Given the description of an element on the screen output the (x, y) to click on. 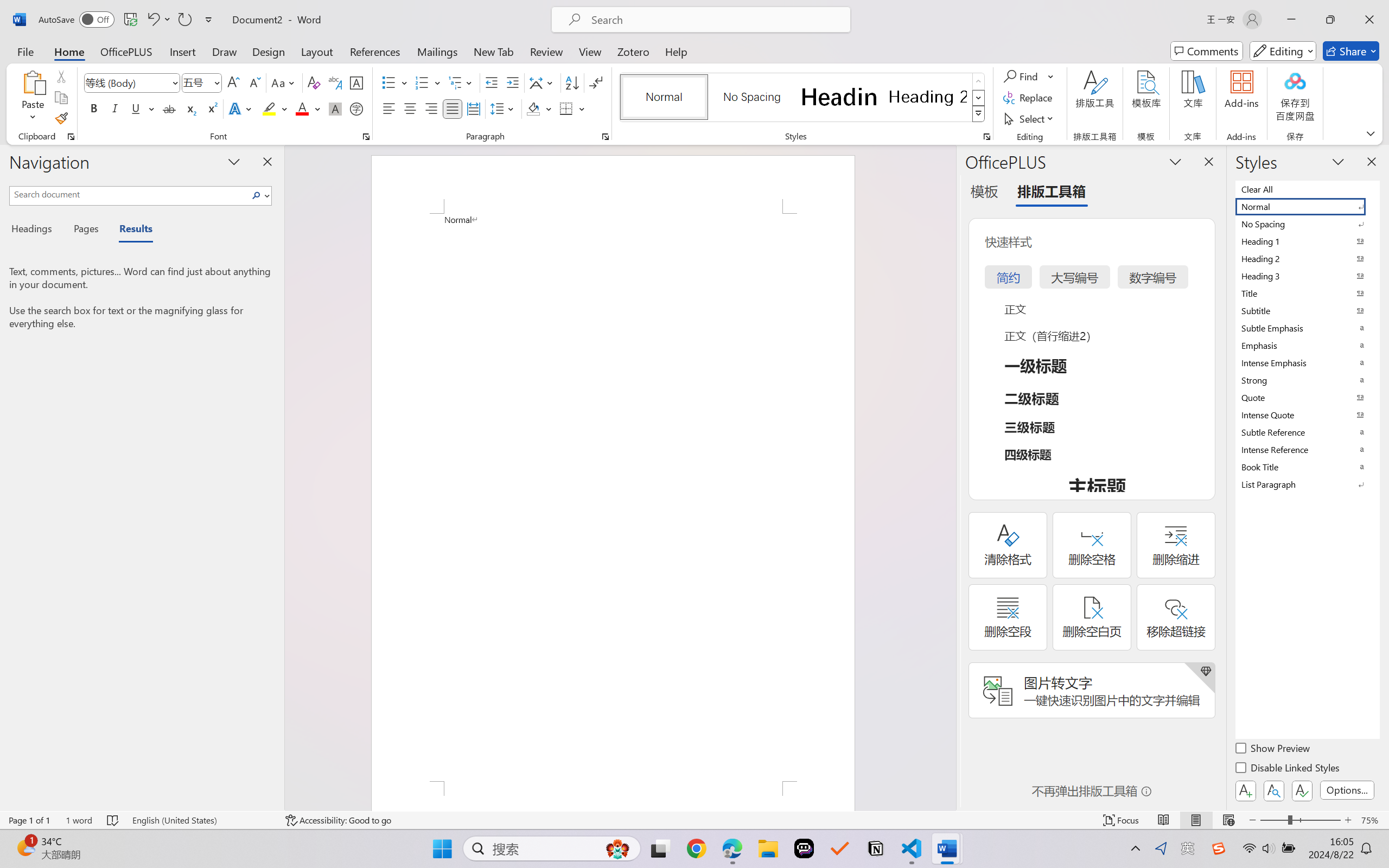
Minimize (1291, 19)
Distributed (473, 108)
Customize Quick Access Toolbar (208, 19)
Page 1 content (612, 497)
Help (675, 51)
Decrease Indent (491, 82)
Replace... (1029, 97)
Cut (60, 75)
Subtle Emphasis (1306, 327)
Styles... (986, 136)
Share (1350, 51)
Character Shading (334, 108)
Home (69, 51)
